Given the description of an element on the screen output the (x, y) to click on. 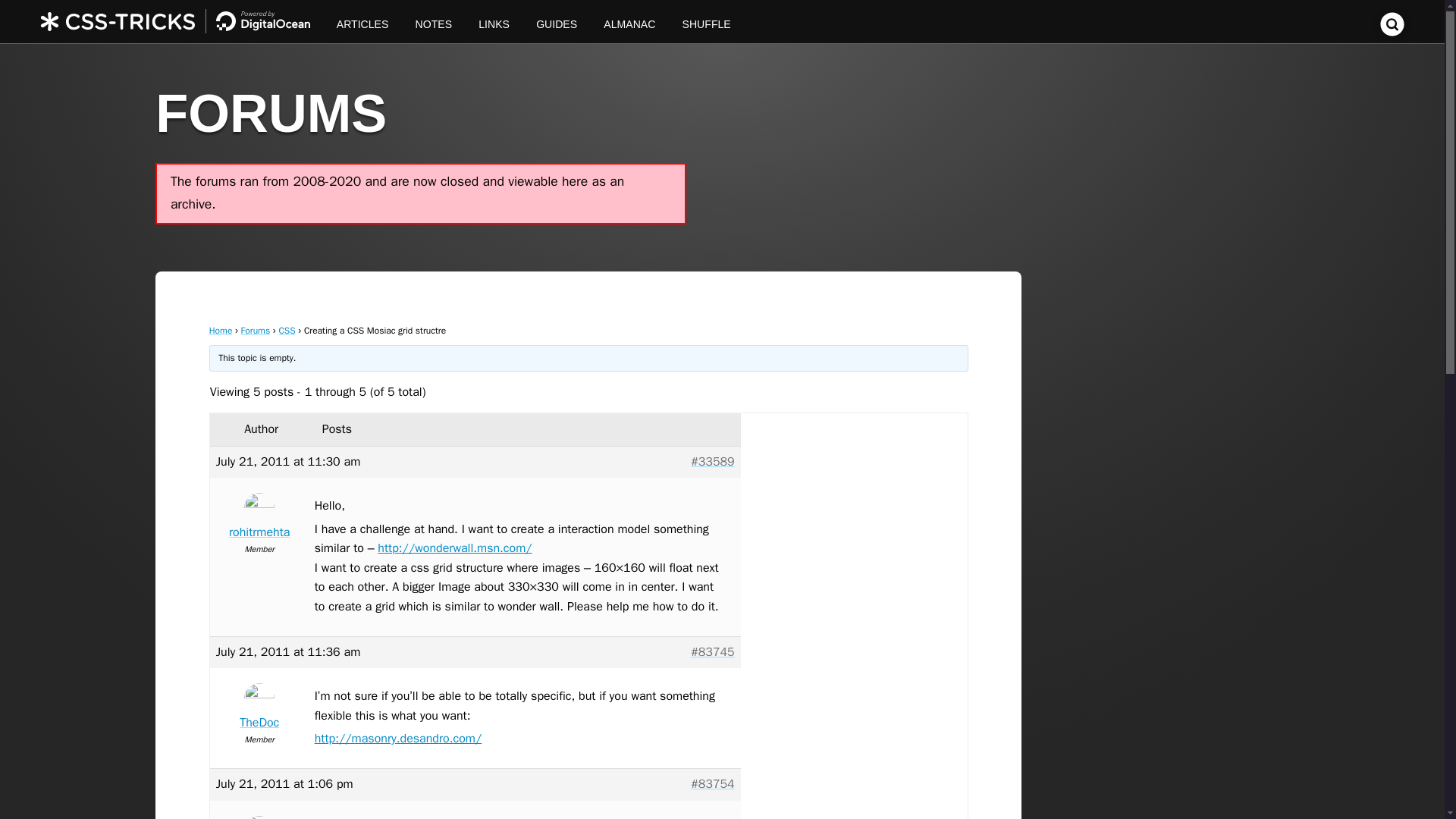
ARTICLES (362, 21)
Forums (255, 330)
CSS (286, 330)
Search (1392, 31)
View TheDoc's profile (258, 710)
Home (220, 330)
GUIDES (556, 21)
NOTES (433, 21)
rohitrmehta (258, 519)
View rohitrmehta's profile (258, 519)
